Given the description of an element on the screen output the (x, y) to click on. 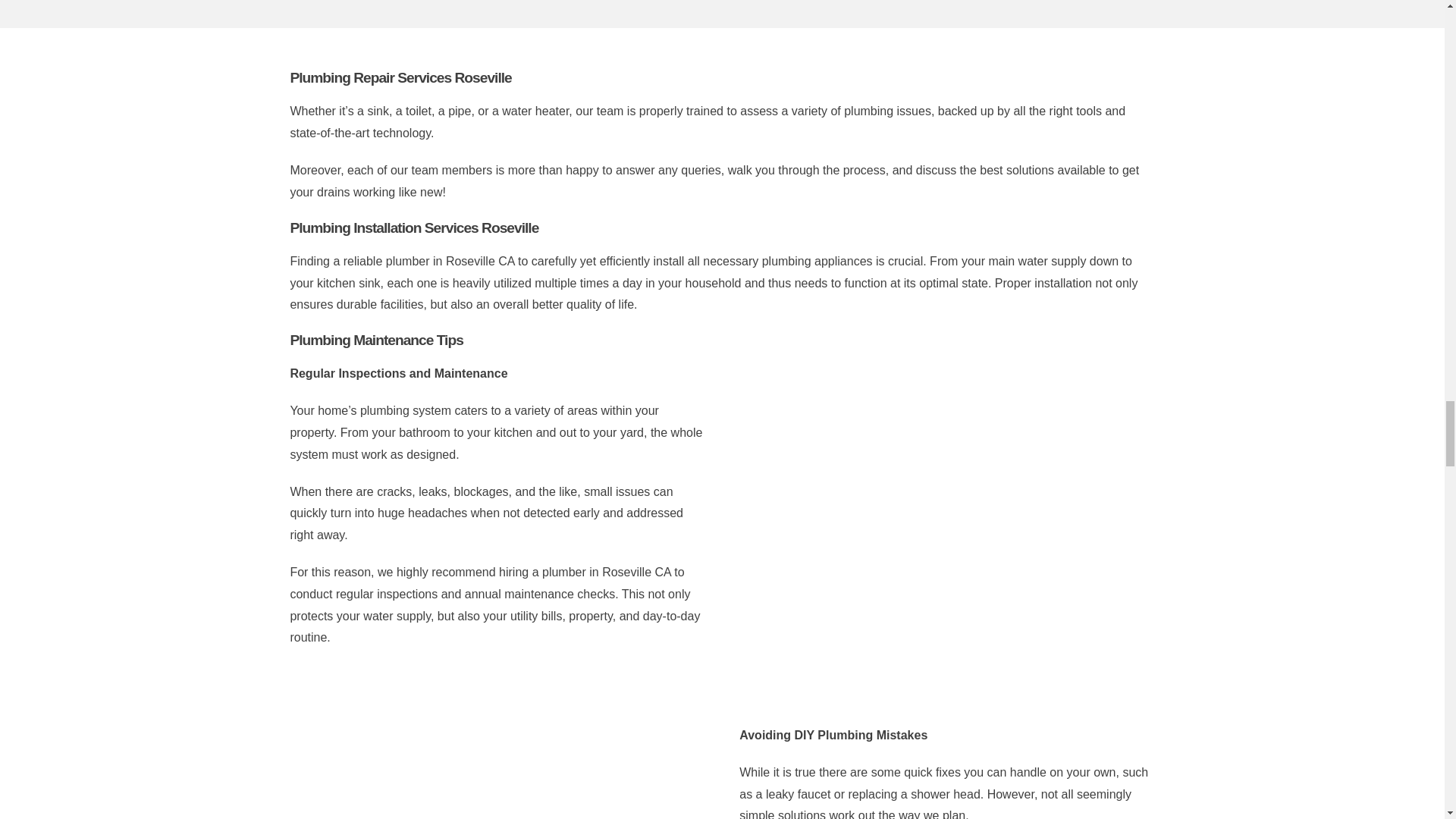
Plumbing Cost (946, 501)
Drainage Services (496, 749)
